Given the description of an element on the screen output the (x, y) to click on. 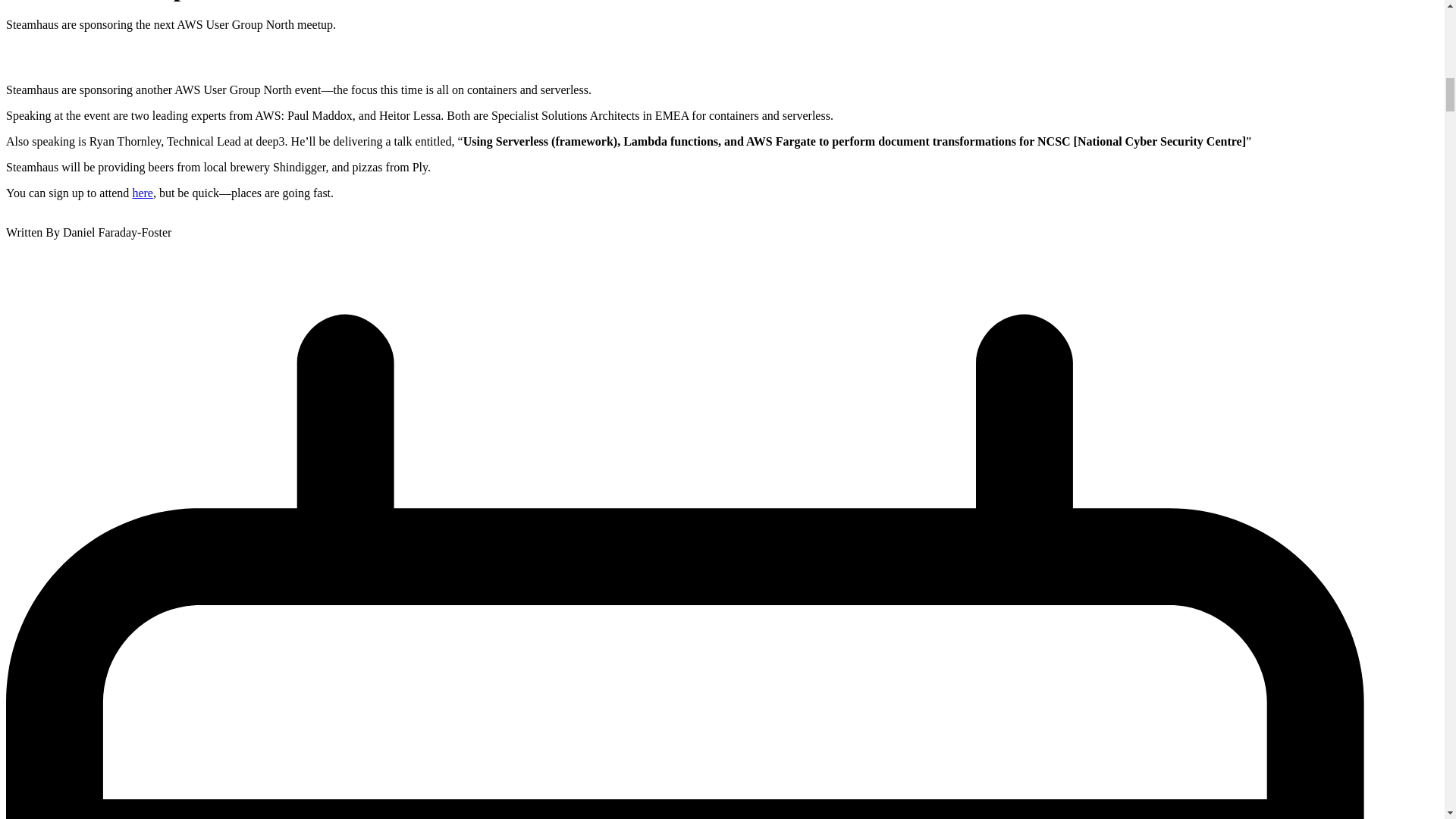
here (142, 192)
